Given the description of an element on the screen output the (x, y) to click on. 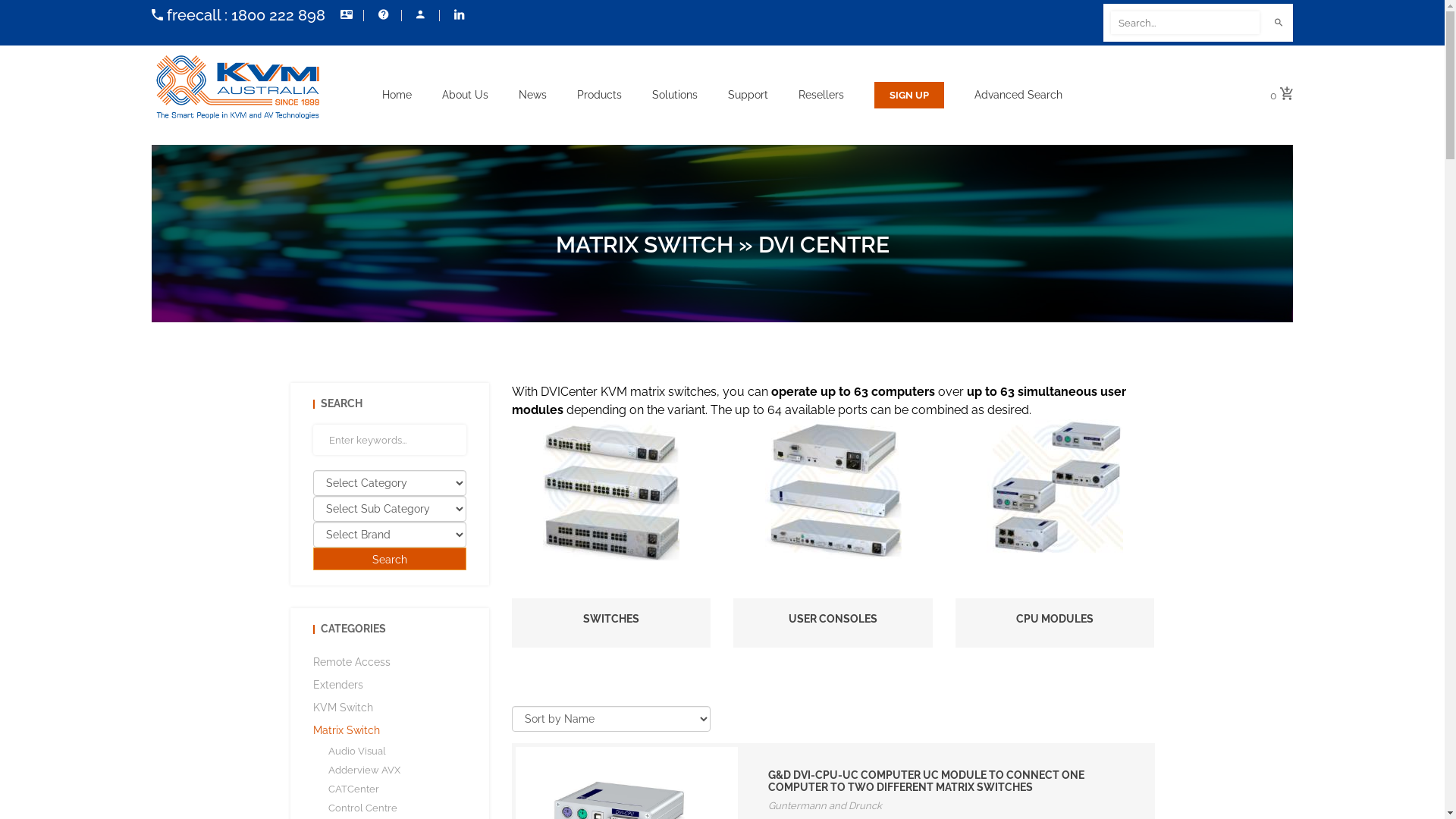
Products Element type: text (599, 93)
Audio Visual Element type: text (356, 750)
1800 222 898 Element type: text (278, 15)
News Element type: text (532, 93)
Contact Us Element type: text (344, 15)
Sign Up Element type: text (909, 94)
0 Element type: text (1281, 95)
Adderview AVX Element type: text (363, 769)
USER CONSOLES Element type: text (832, 618)
About Us Element type: text (465, 93)
MATRIX SWITCH Element type: text (643, 244)
My Account Element type: text (420, 15)
Remote Access Element type: text (350, 661)
Solutions Element type: text (674, 93)
SWITCHES Element type: text (611, 618)
Follow Us On LinkedIn Element type: text (457, 15)
Control Centre Element type: text (361, 807)
Resellers Element type: text (821, 93)
Support Element type: text (748, 93)
CATCenter Element type: text (352, 788)
Help Element type: text (382, 15)
Home Element type: text (396, 93)
Advanced Search Element type: text (1018, 93)
Search Element type: text (389, 558)
CPU MODULES Element type: text (1054, 618)
Extenders Element type: text (337, 684)
Matrix Switch Element type: text (345, 729)
KVM Switch Element type: text (342, 707)
